Given the description of an element on the screen output the (x, y) to click on. 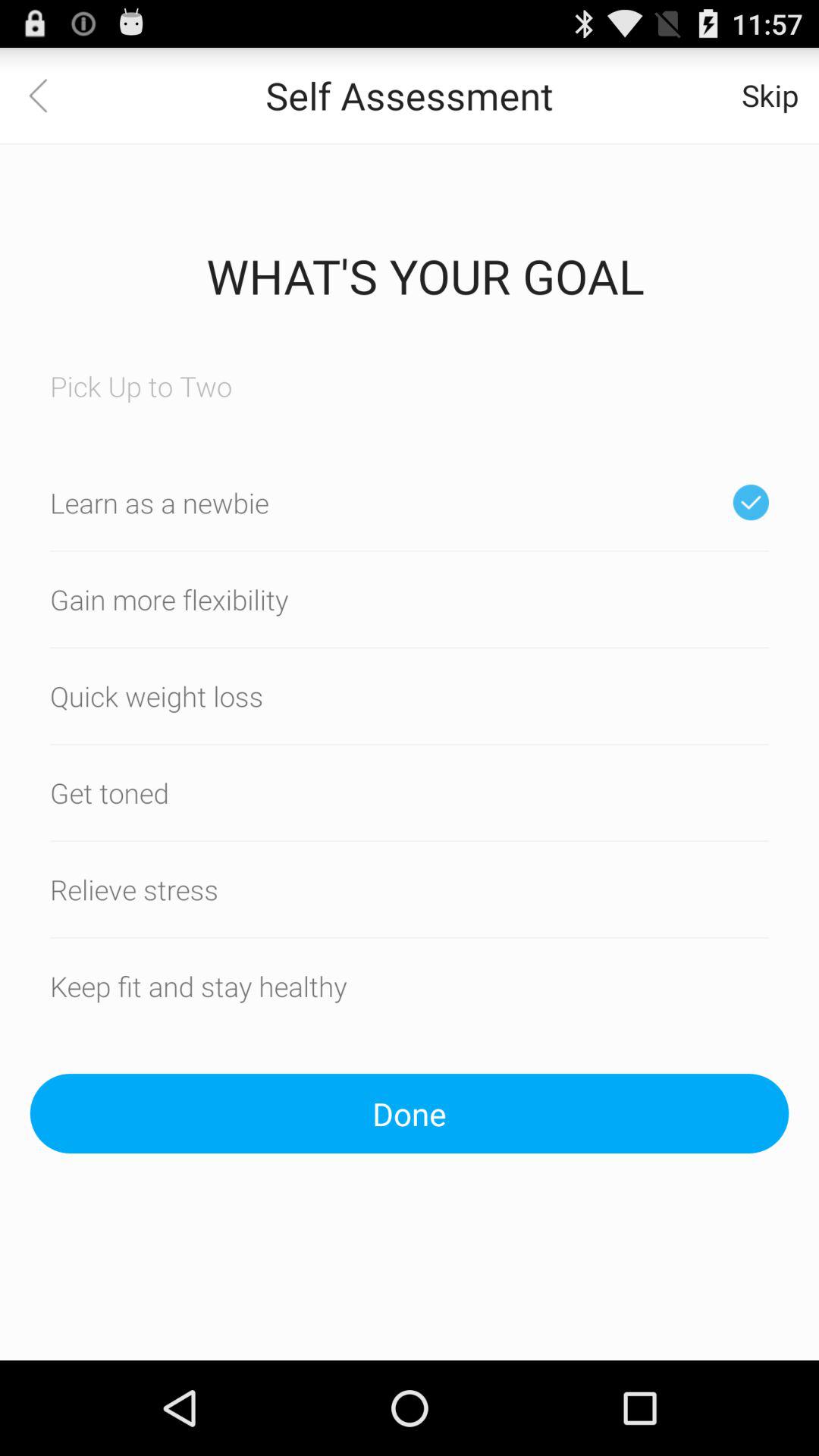
open icon at the top left corner (47, 95)
